Given the description of an element on the screen output the (x, y) to click on. 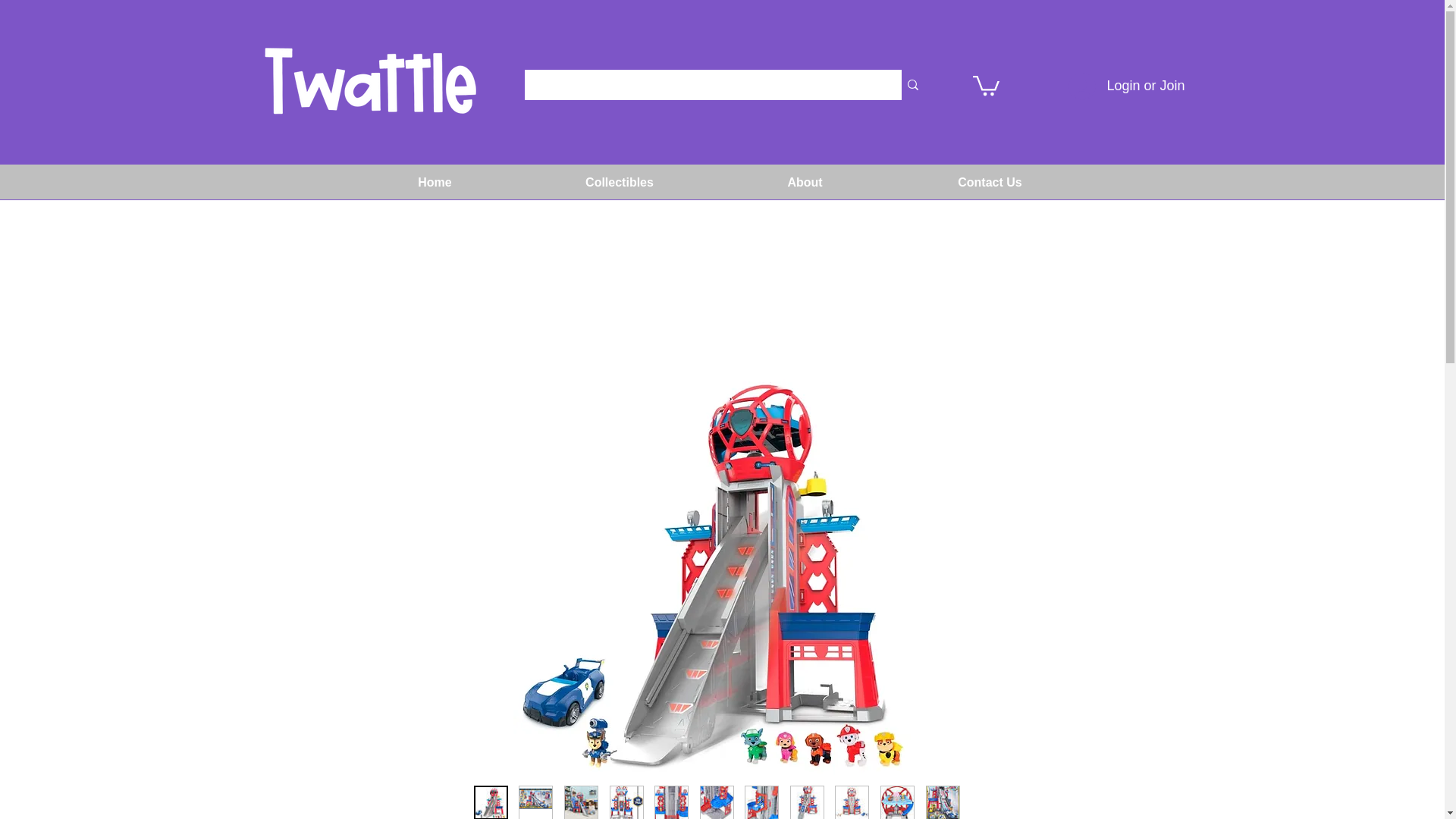
Login or Join (1126, 85)
Home (434, 182)
About (804, 182)
Contact Us (989, 182)
Collectibles (618, 182)
